Given the description of an element on the screen output the (x, y) to click on. 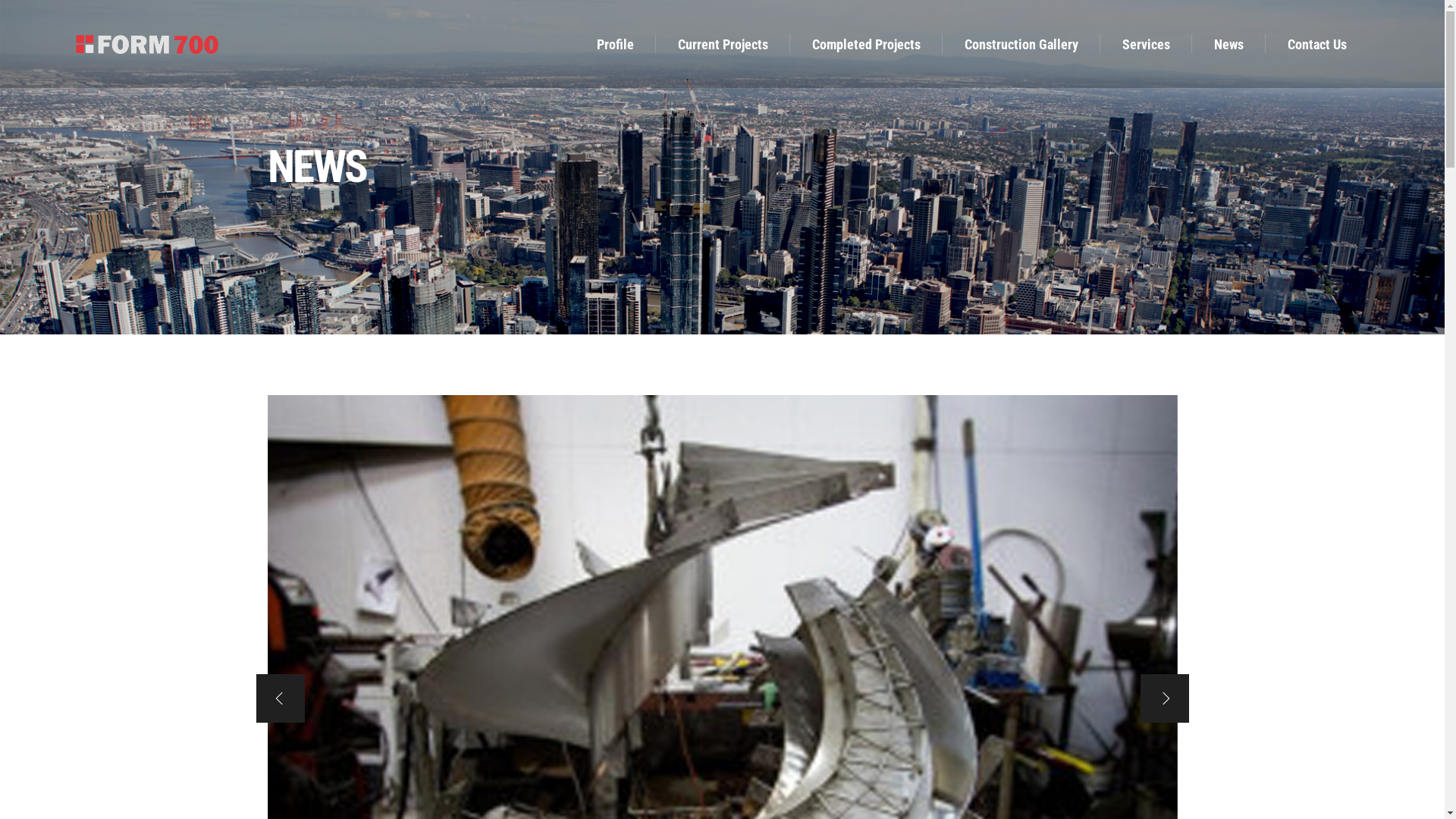
Profile Element type: text (614, 43)
News Element type: text (1228, 43)
Current Projects Element type: text (722, 43)
Contact Us Element type: text (1316, 43)
Completed Projects Element type: text (866, 43)
Services Element type: text (1146, 43)
Construction Gallery Element type: text (1021, 43)
